Given the description of an element on the screen output the (x, y) to click on. 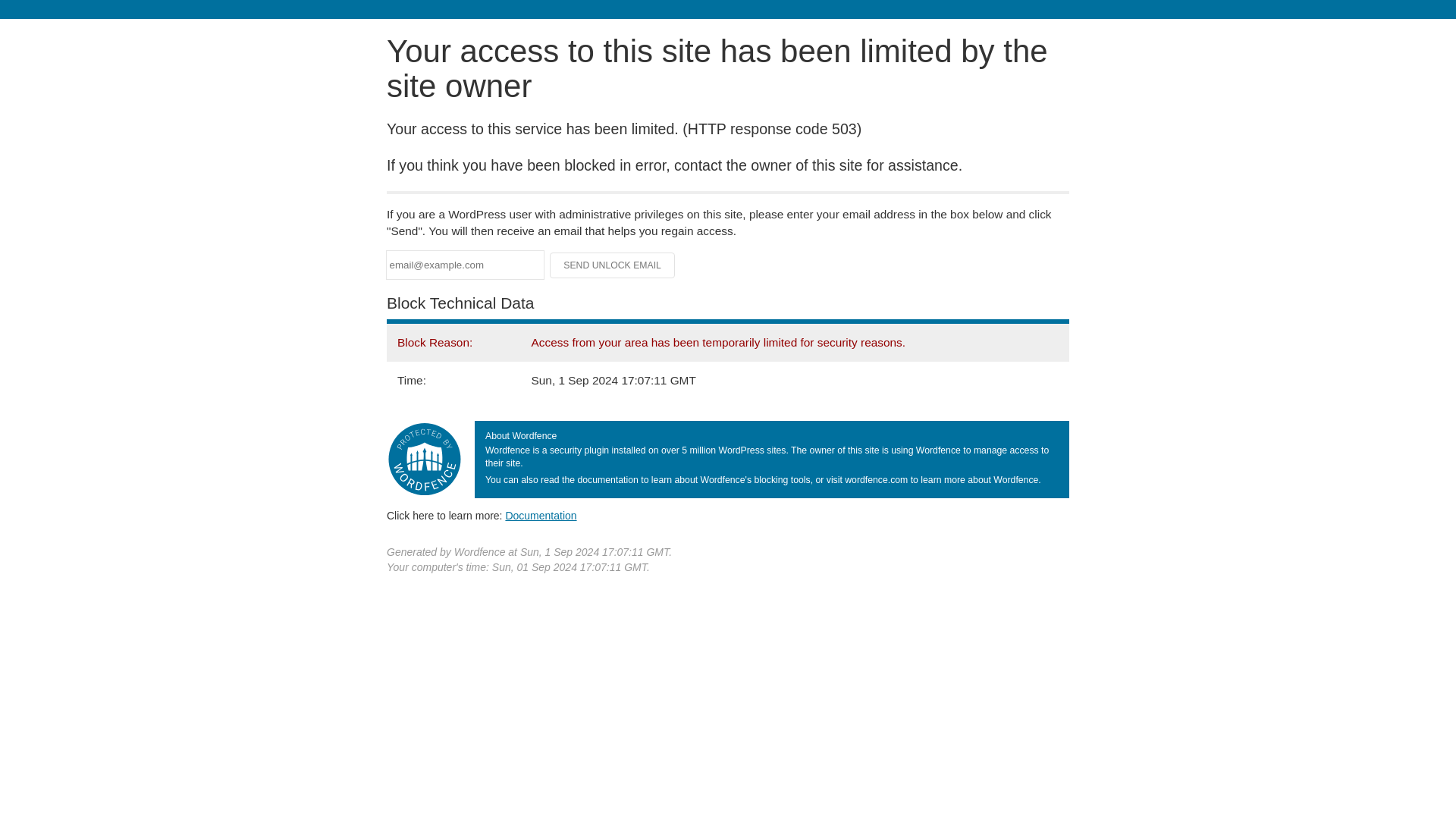
Send Unlock Email (612, 265)
Send Unlock Email (612, 265)
Documentation (540, 515)
